Given the description of an element on the screen output the (x, y) to click on. 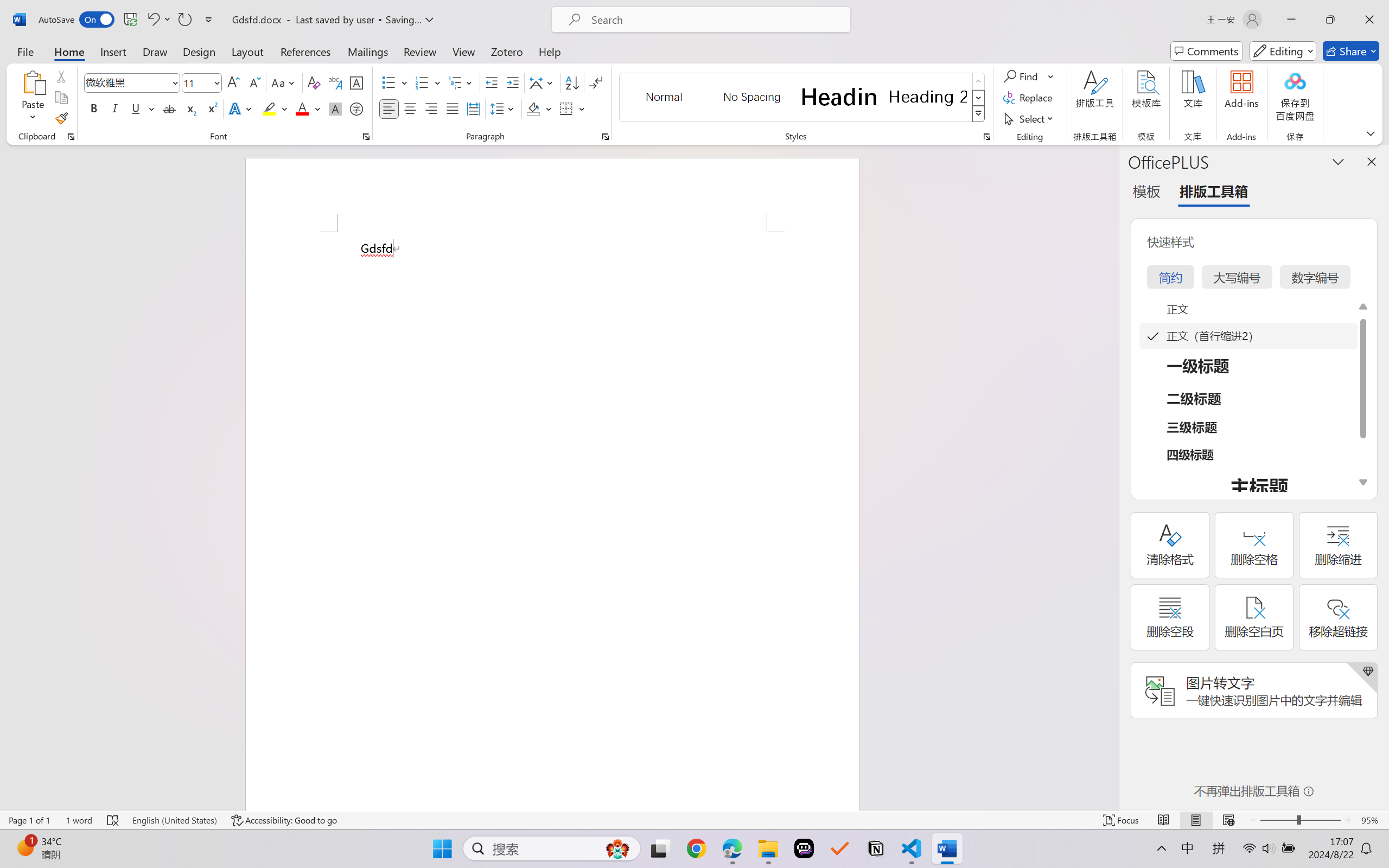
Undo <ApplyStyleToDoc>b__0 (152, 19)
